Given the description of an element on the screen output the (x, y) to click on. 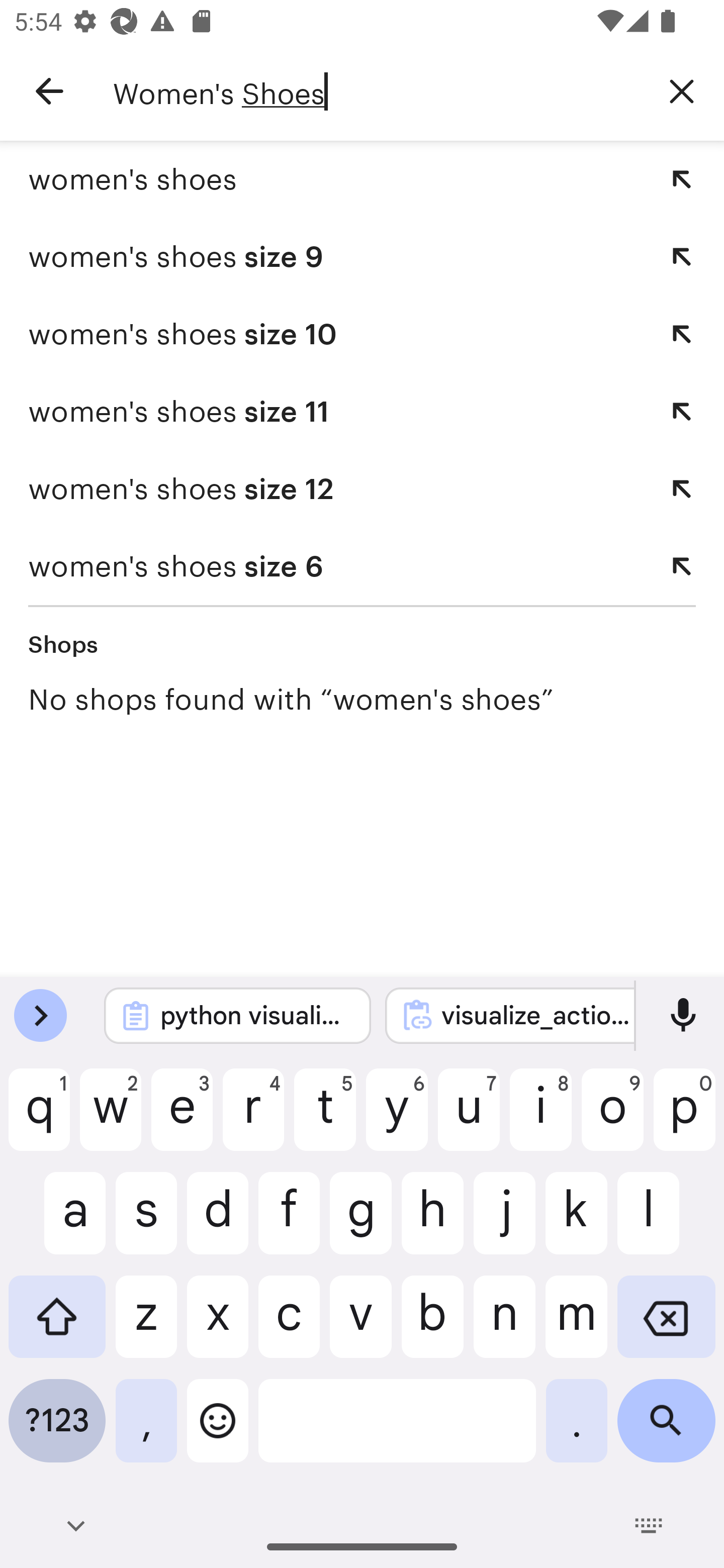
Navigate up (49, 91)
Clear query (681, 90)
Women's Shoes (375, 91)
